Given the description of an element on the screen output the (x, y) to click on. 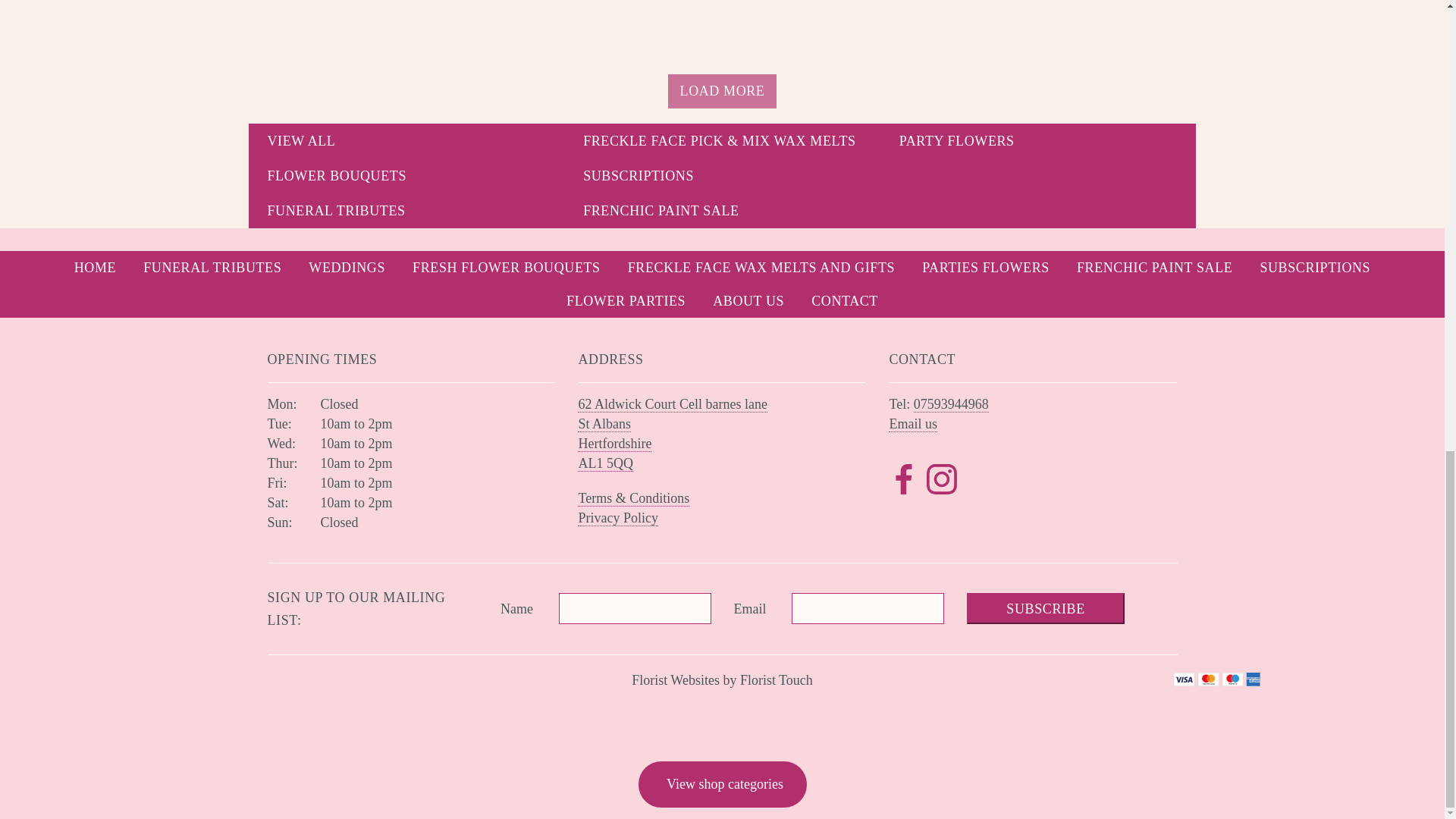
SUBSCRIPTIONS (722, 175)
PARTY FLOWERS (1038, 140)
FRENCHIC PAINT SALE (722, 210)
LOAD MORE (722, 91)
VIEW ALL (406, 140)
FUNERAL TRIBUTES (406, 210)
FLOWER BOUQUETS (406, 175)
